Given the description of an element on the screen output the (x, y) to click on. 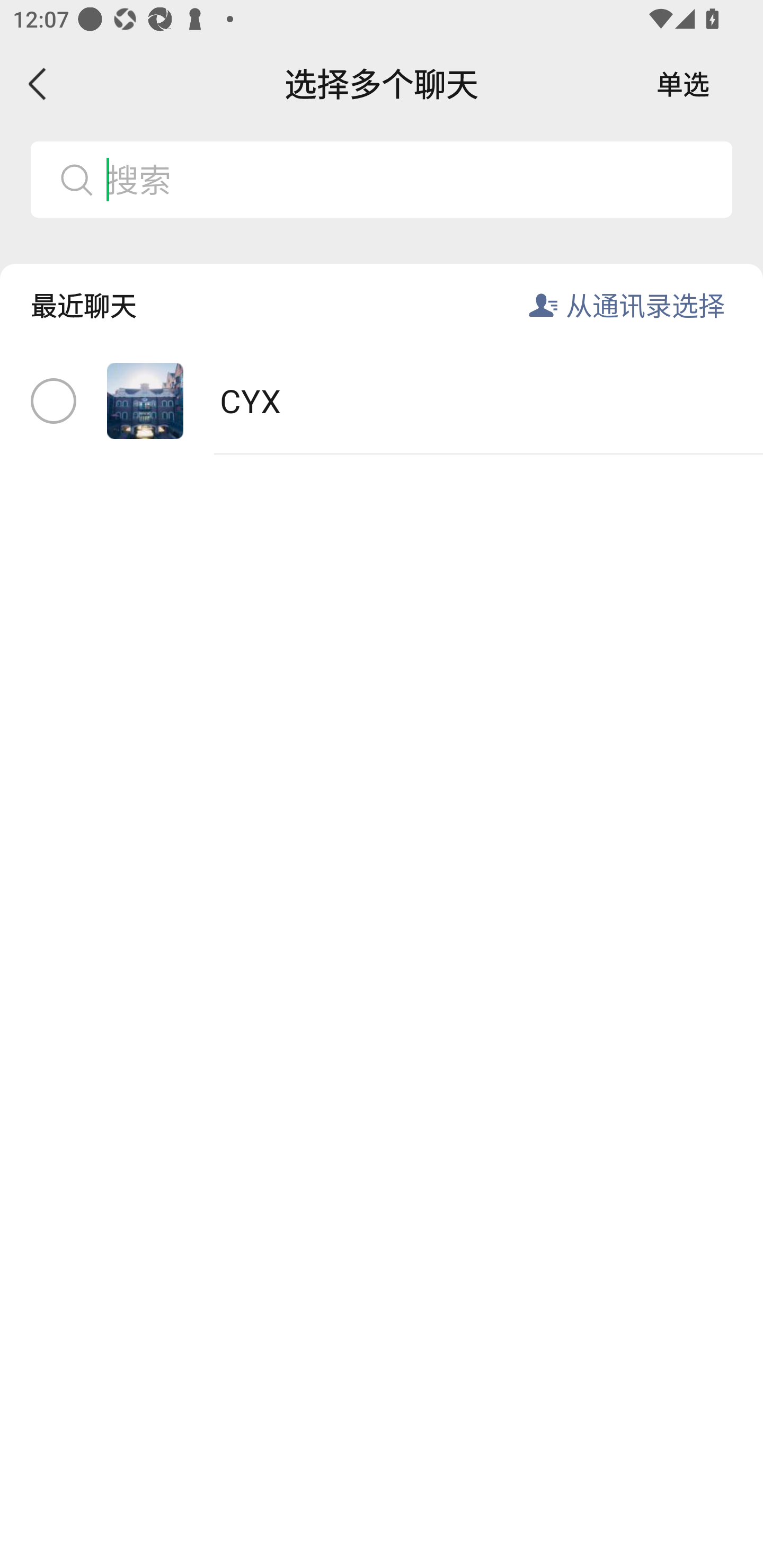
返回 (38, 83)
单选 (683, 83)
搜索 (411, 179)
从通讯录选择 (645, 304)
CYX (381, 401)
